Given the description of an element on the screen output the (x, y) to click on. 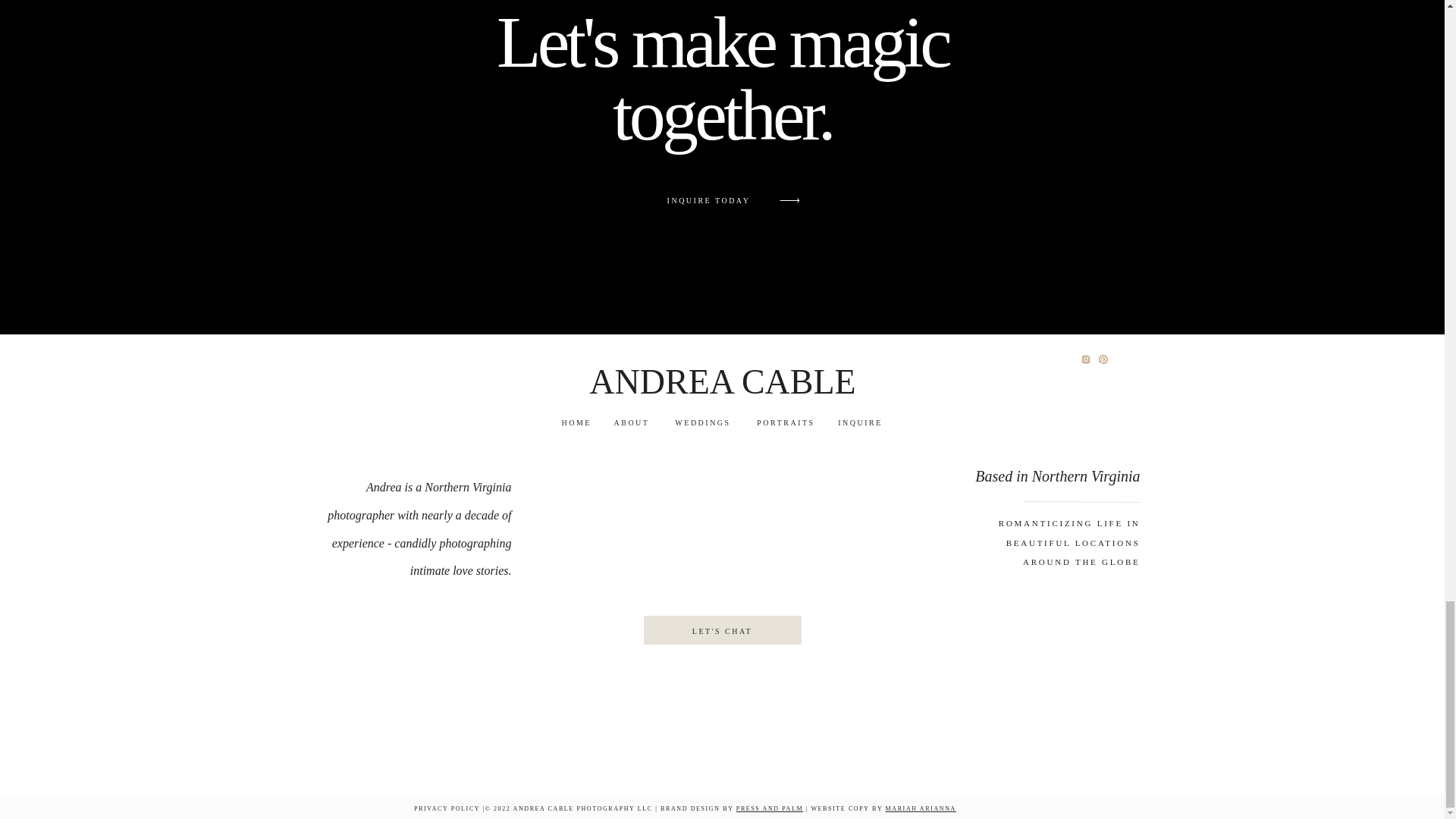
arrow (789, 200)
